Given the description of an element on the screen output the (x, y) to click on. 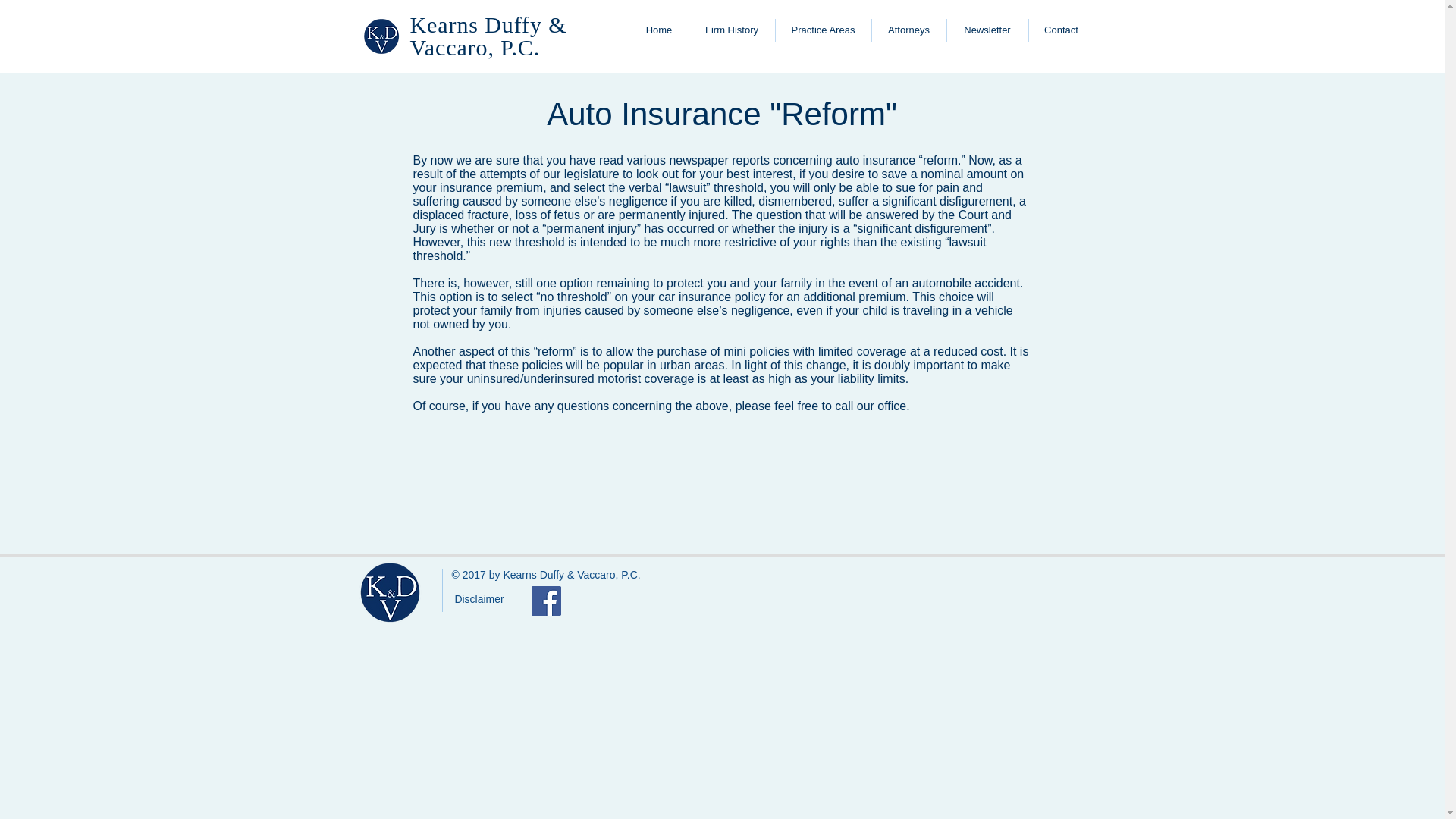
Practice Areas (822, 29)
Contact (1060, 29)
kdlogo.png (391, 591)
Disclaimer (478, 598)
Newsletter (986, 29)
Attorneys (907, 29)
Home (657, 29)
Firm History (731, 29)
